Given the description of an element on the screen output the (x, y) to click on. 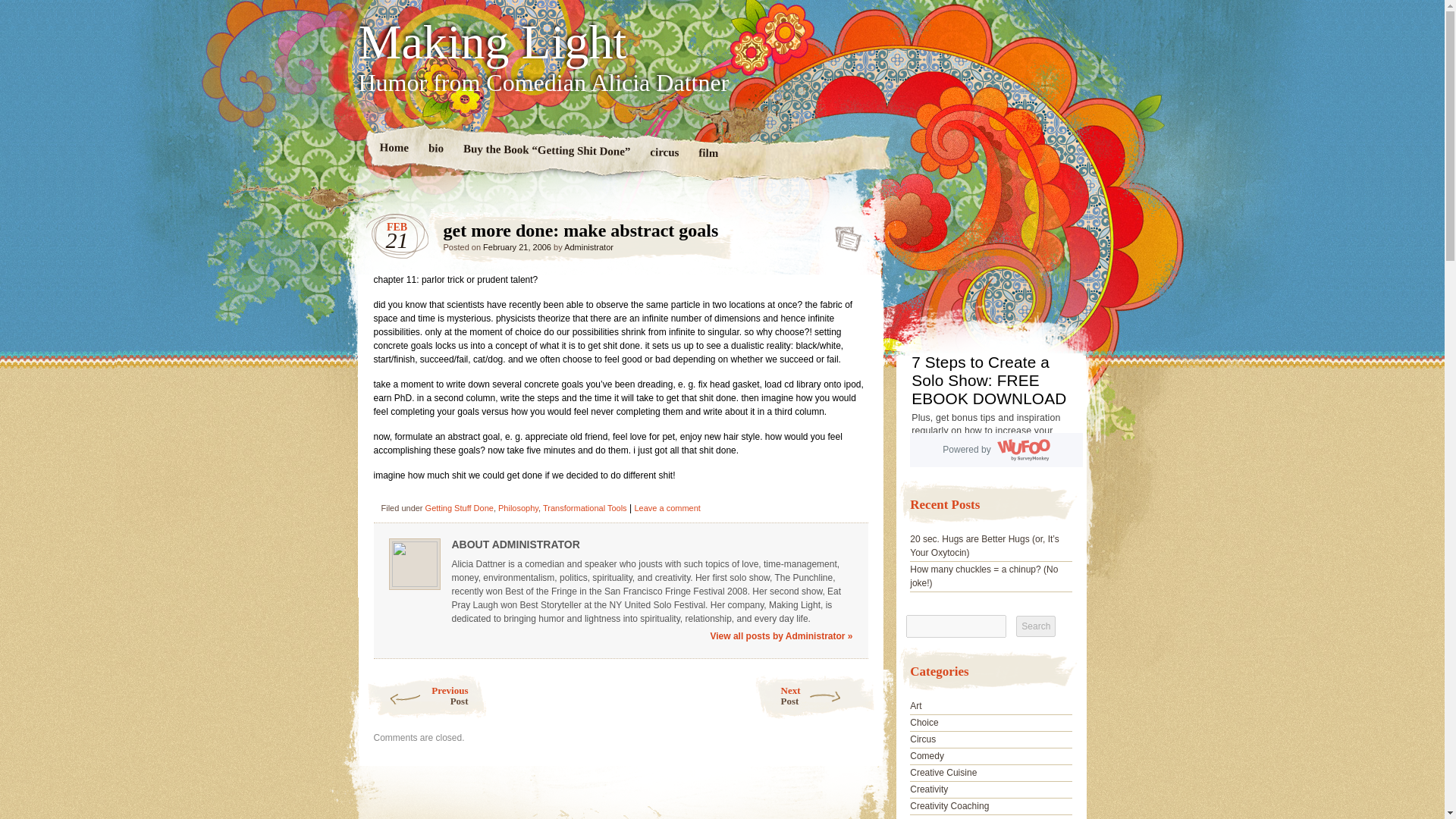
get more done: make abstract goals (843, 234)
Choice (923, 722)
Home (393, 149)
bio (434, 149)
Art (915, 706)
Making Light (722, 42)
Administrator (588, 246)
Creativity Exercises (950, 818)
Permalink to get more done:  make abstract goals (843, 234)
View all posts by Administrator (588, 246)
Getting Stuff Done (814, 696)
Search (459, 507)
film (1035, 626)
Search (706, 154)
